Given the description of an element on the screen output the (x, y) to click on. 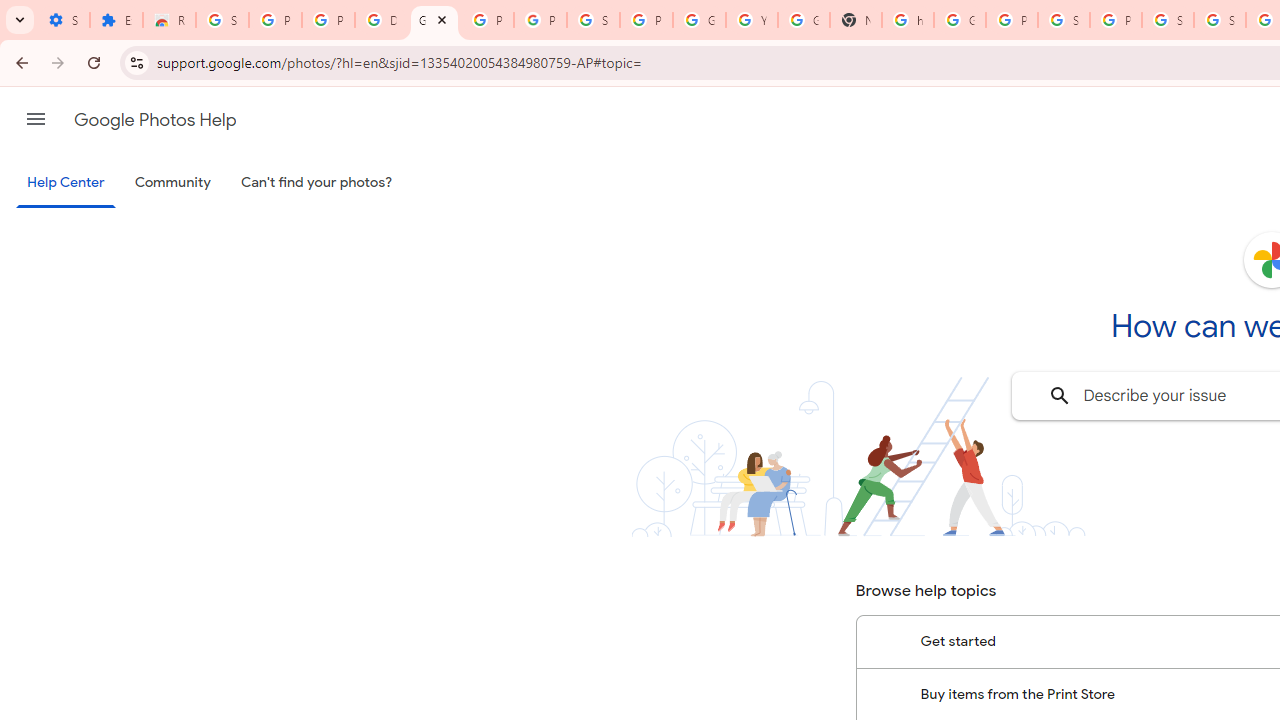
Sign in - Google Accounts (1167, 20)
Community (171, 183)
Extensions (116, 20)
Reviews: Helix Fruit Jump Arcade Game (169, 20)
Sign in - Google Accounts (1064, 20)
Sign in - Google Accounts (593, 20)
